Given the description of an element on the screen output the (x, y) to click on. 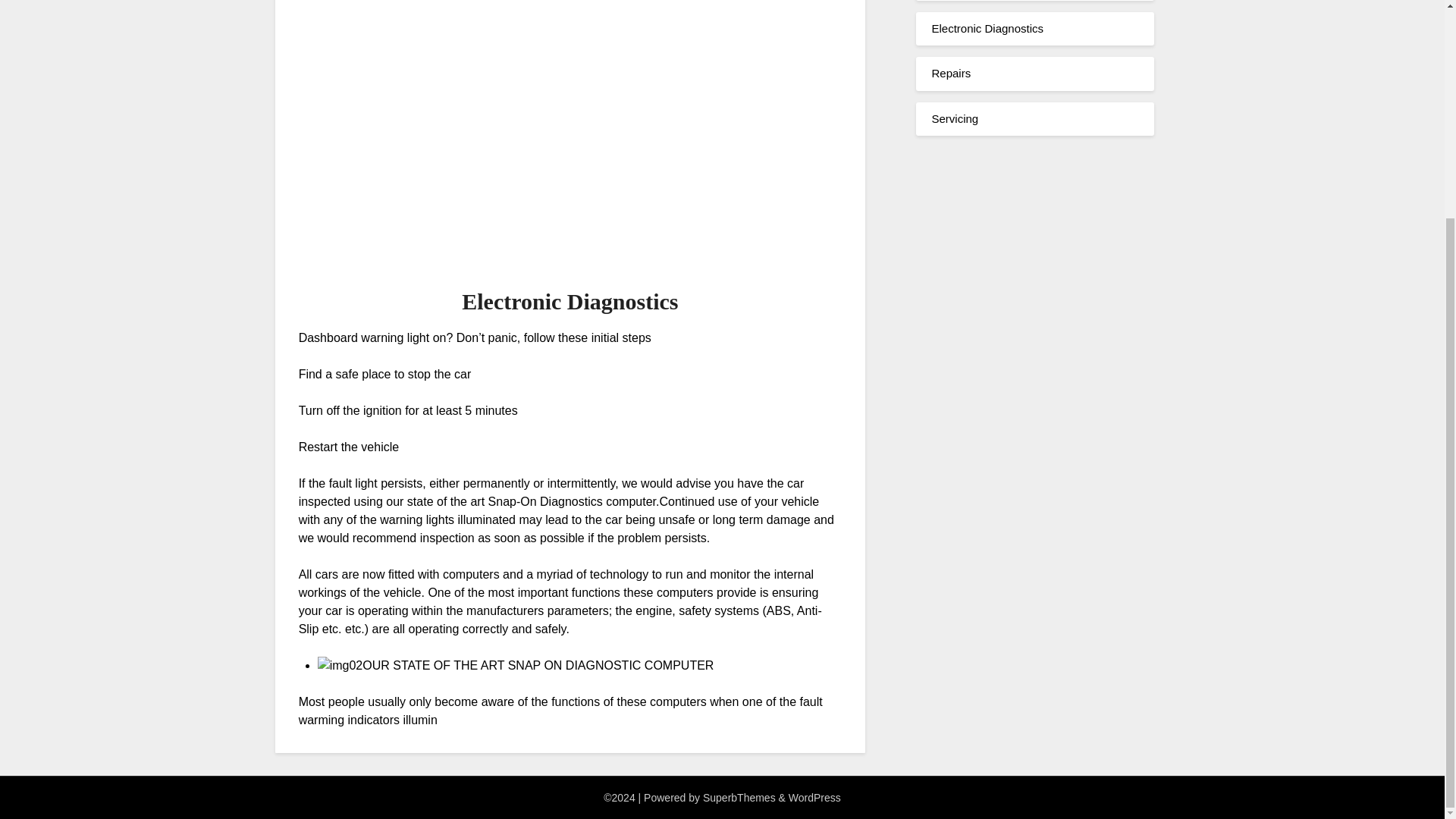
Repairs (951, 72)
Servicing (954, 118)
Electronic Diagnostics (987, 28)
SuperbThemes (739, 797)
